Given the description of an element on the screen output the (x, y) to click on. 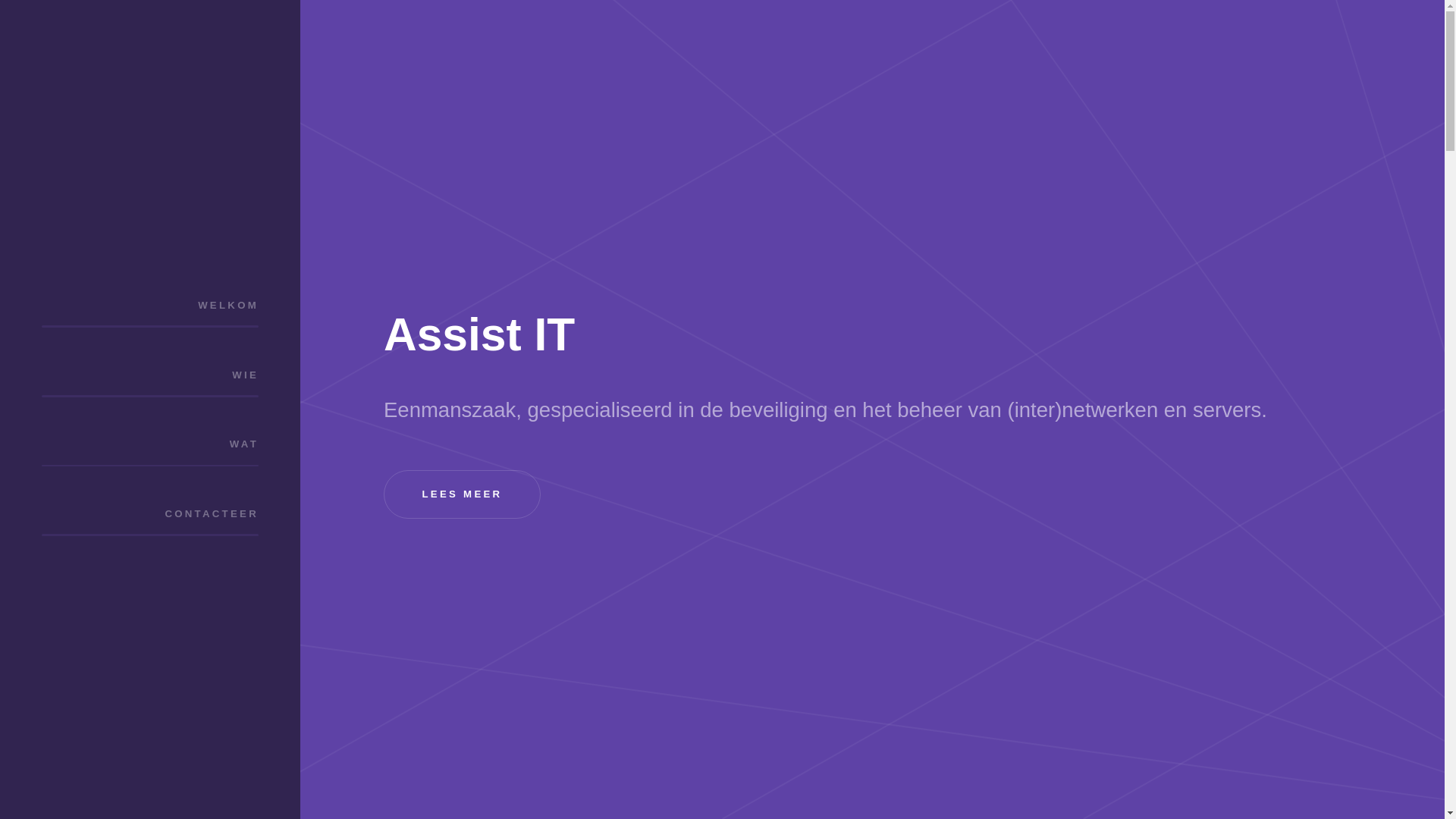
CONTACTEER Element type: text (149, 513)
WAT Element type: text (149, 443)
WELKOM Element type: text (149, 304)
LEES MEER Element type: text (461, 494)
WIE Element type: text (149, 374)
